Given the description of an element on the screen output the (x, y) to click on. 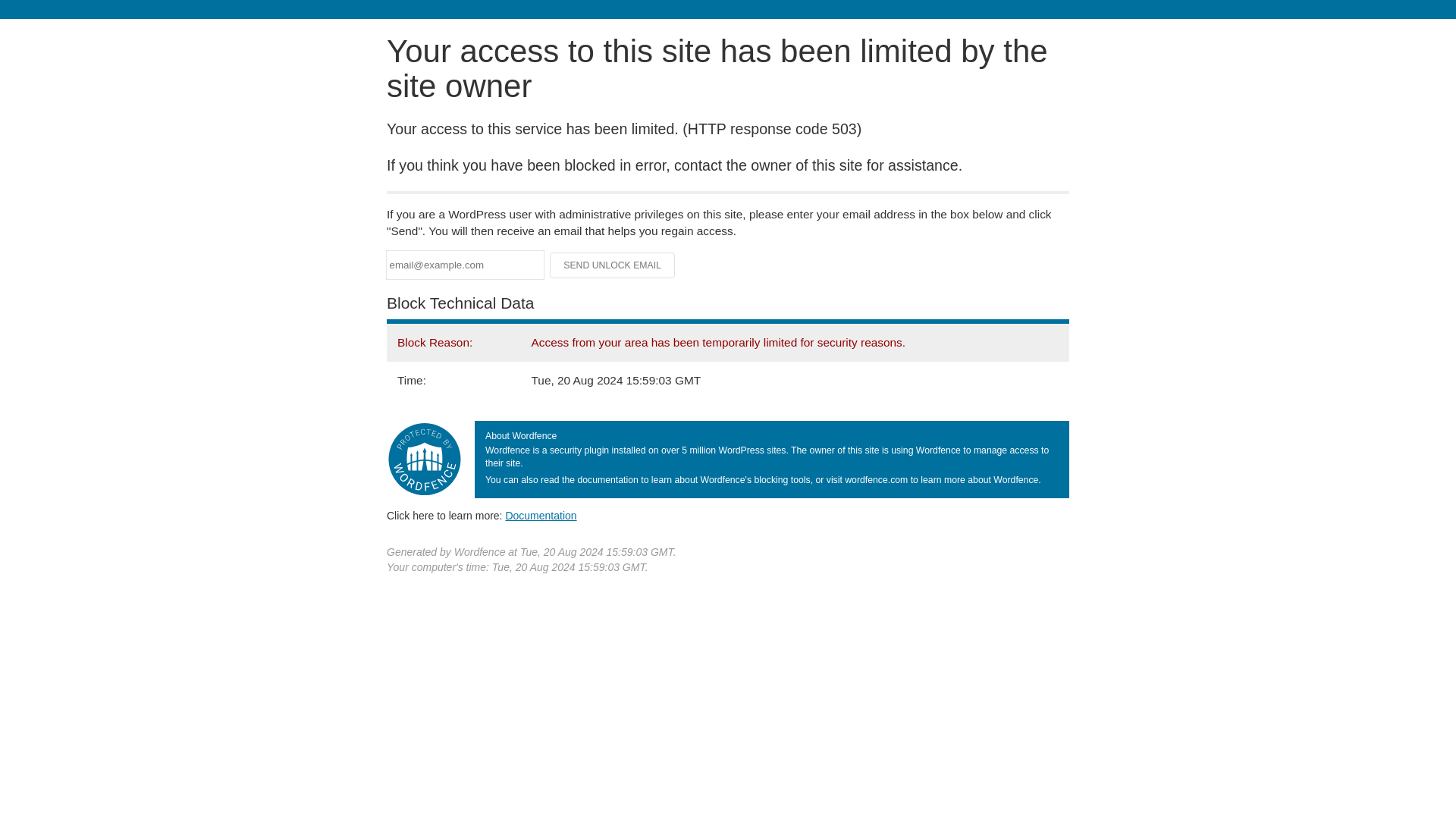
Send Unlock Email (612, 265)
Documentation (540, 515)
Send Unlock Email (612, 265)
